Given the description of an element on the screen output the (x, y) to click on. 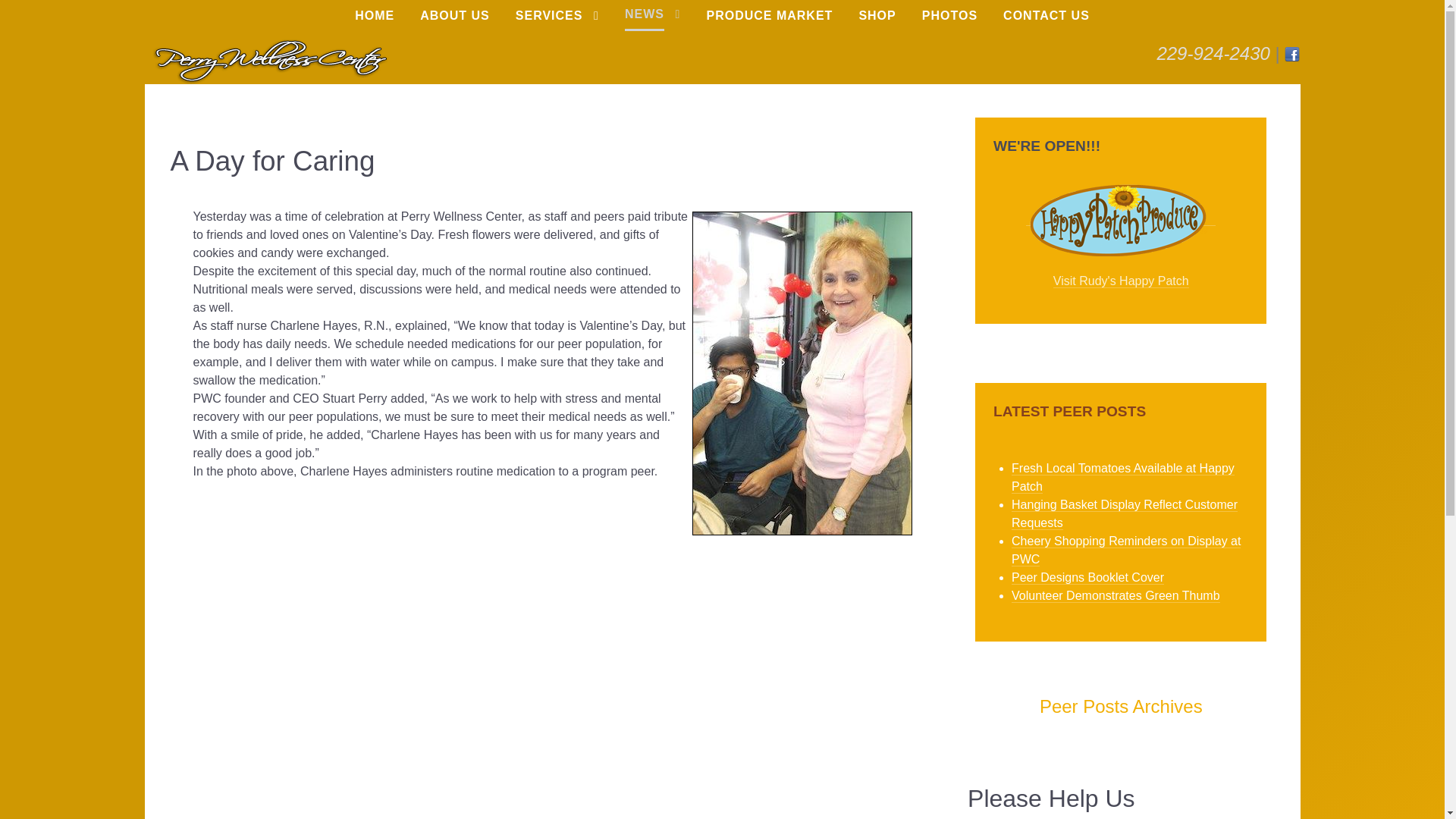
Peer Designs Booklet Cover (1087, 576)
CONTACT US (1045, 19)
PRODUCE MARKET (769, 19)
Volunteer Demonstrates Green Thumb (1115, 594)
ABOUT US (454, 19)
Fresh Local Tomatoes Available at Happy Patch (1122, 477)
Visit Rudy's Happy Patch (1120, 280)
229-924-2430 (1212, 53)
SHOP (877, 19)
PHOTOS (949, 19)
Acronym (269, 59)
HOME (374, 19)
Peer Posts Archives (1120, 706)
SERVICES (556, 19)
Cheery Shopping Reminders on Display at PWC (1125, 549)
